Given the description of an element on the screen output the (x, y) to click on. 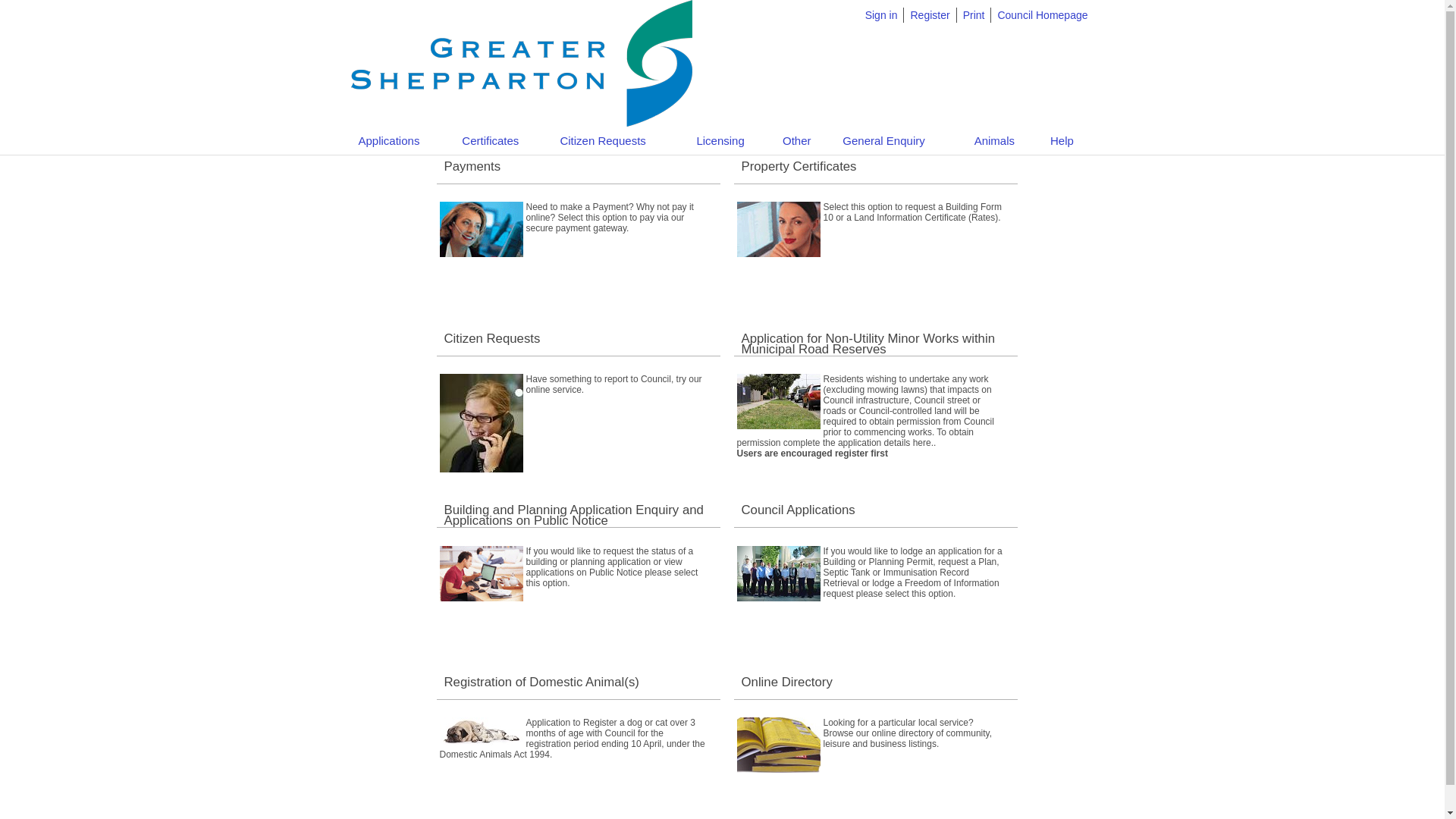
Applications Element type: text (388, 140)
Register Element type: text (929, 15)
Animals Element type: text (994, 140)
Licensing Element type: text (719, 140)
General Enquiry Element type: text (883, 140)
Sign in Element type: text (881, 15)
Other Element type: text (796, 140)
Help Element type: text (1061, 140)
Citizen Requests Element type: text (602, 140)
Certificates Element type: text (490, 140)
Print Element type: text (974, 15)
Council Homepage Element type: text (1042, 15)
